Given the description of an element on the screen output the (x, y) to click on. 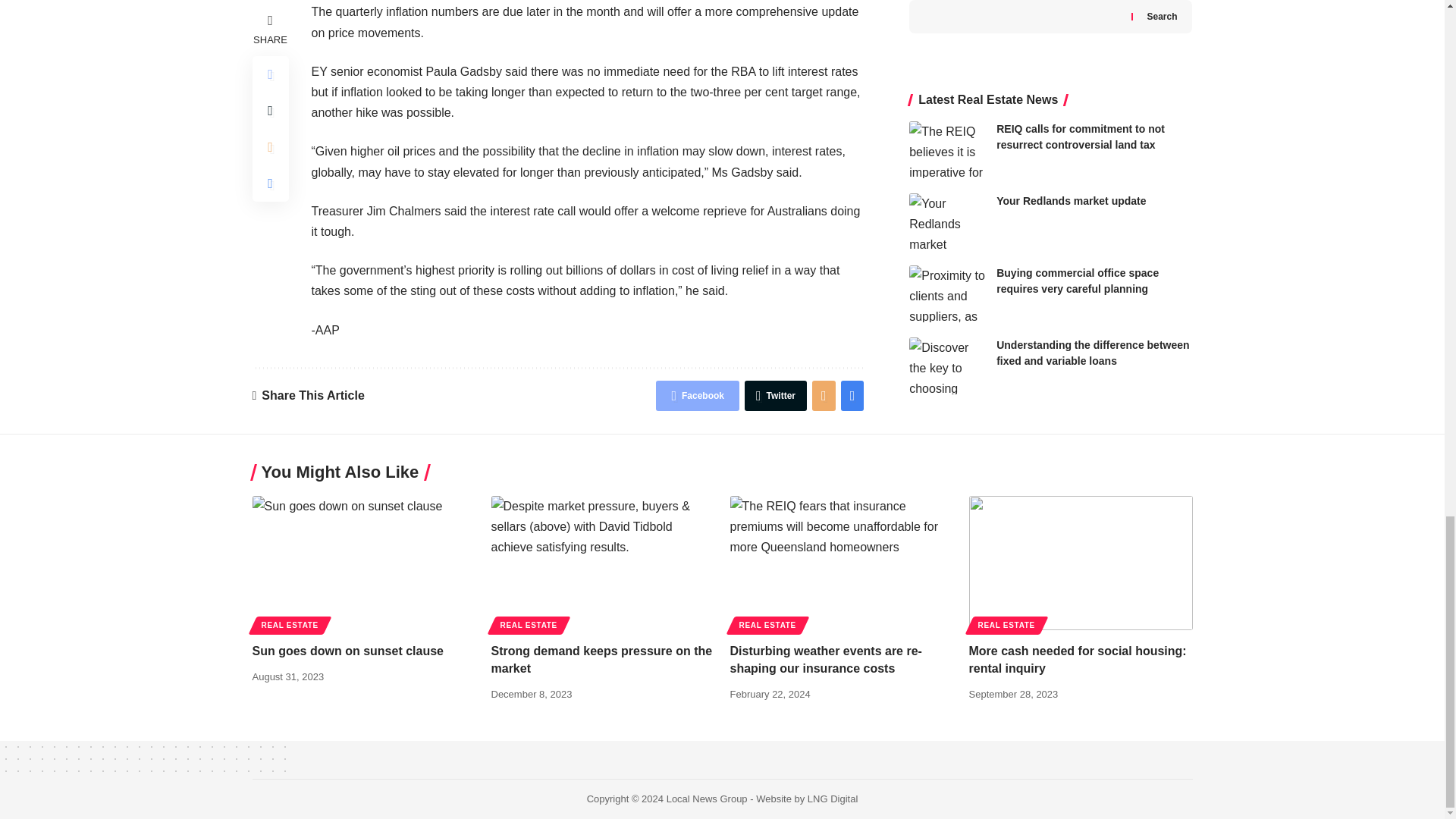
More cash needed for social housing: rental inquiry (1080, 562)
Sun goes down on sunset clause (363, 562)
Strong demand keeps pressure on the market (603, 562)
Disturbing weather events are re-shaping our insurance costs (841, 562)
